Given the description of an element on the screen output the (x, y) to click on. 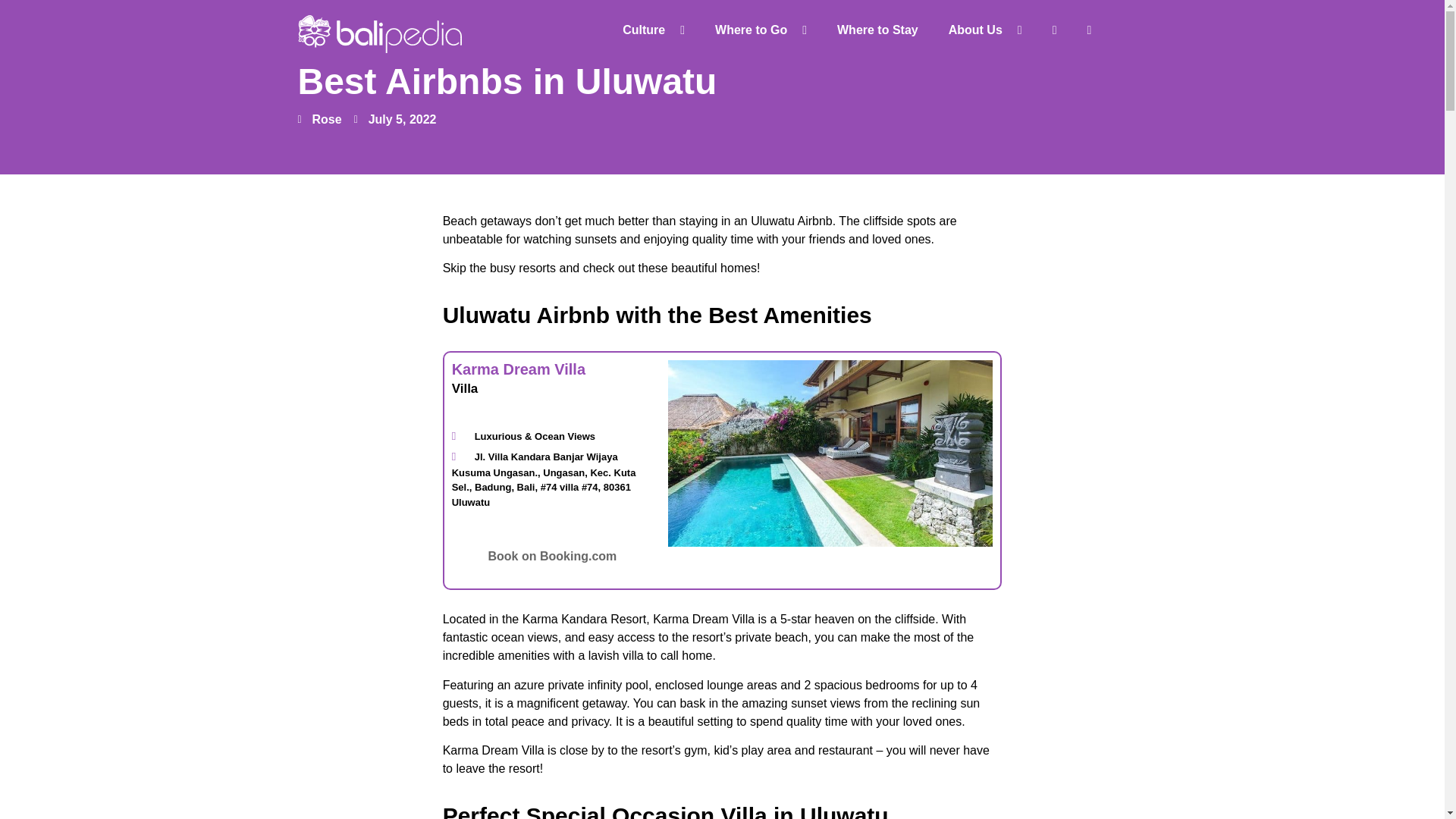
July 5, 2022 (394, 119)
Book on Booking.com (551, 556)
Where to Stay (877, 29)
Karma Dream Villa (518, 369)
Where to Go (761, 29)
Culture (653, 29)
About Us (984, 29)
Rose (318, 119)
Book on Booking.com (551, 555)
